Given the description of an element on the screen output the (x, y) to click on. 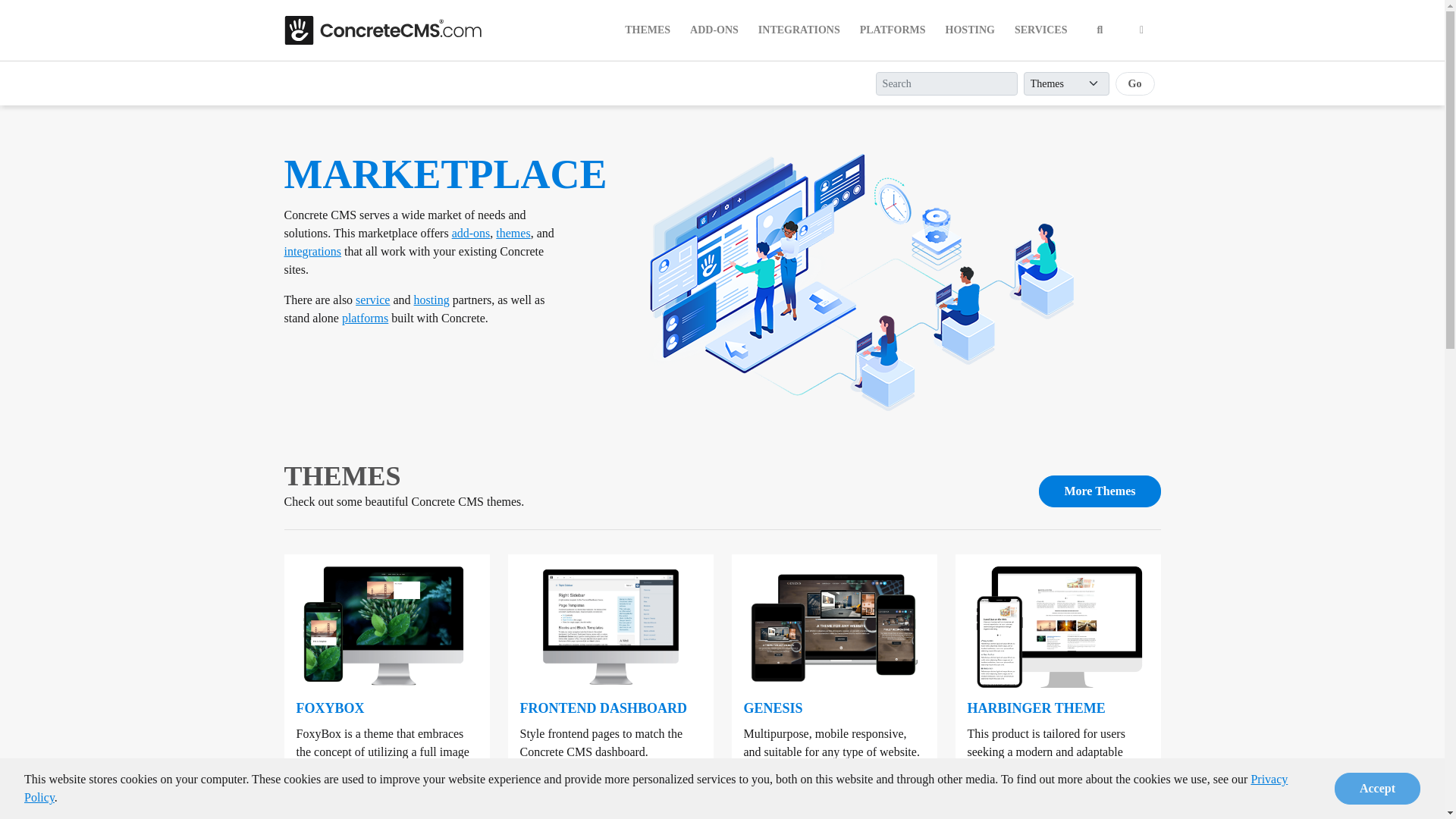
Privacy Policy (655, 790)
add-ons (470, 232)
FOXYBOX (329, 708)
platforms (365, 318)
Search (1100, 30)
HARBINGER THEME (1036, 708)
FRONTEND DASHBOARD (603, 708)
ADD-ONS (714, 30)
SERVICES (1041, 30)
PLATFORMS (892, 30)
Go (1134, 83)
Accept (1378, 790)
More Themes (1099, 490)
integrations (311, 250)
